Given the description of an element on the screen output the (x, y) to click on. 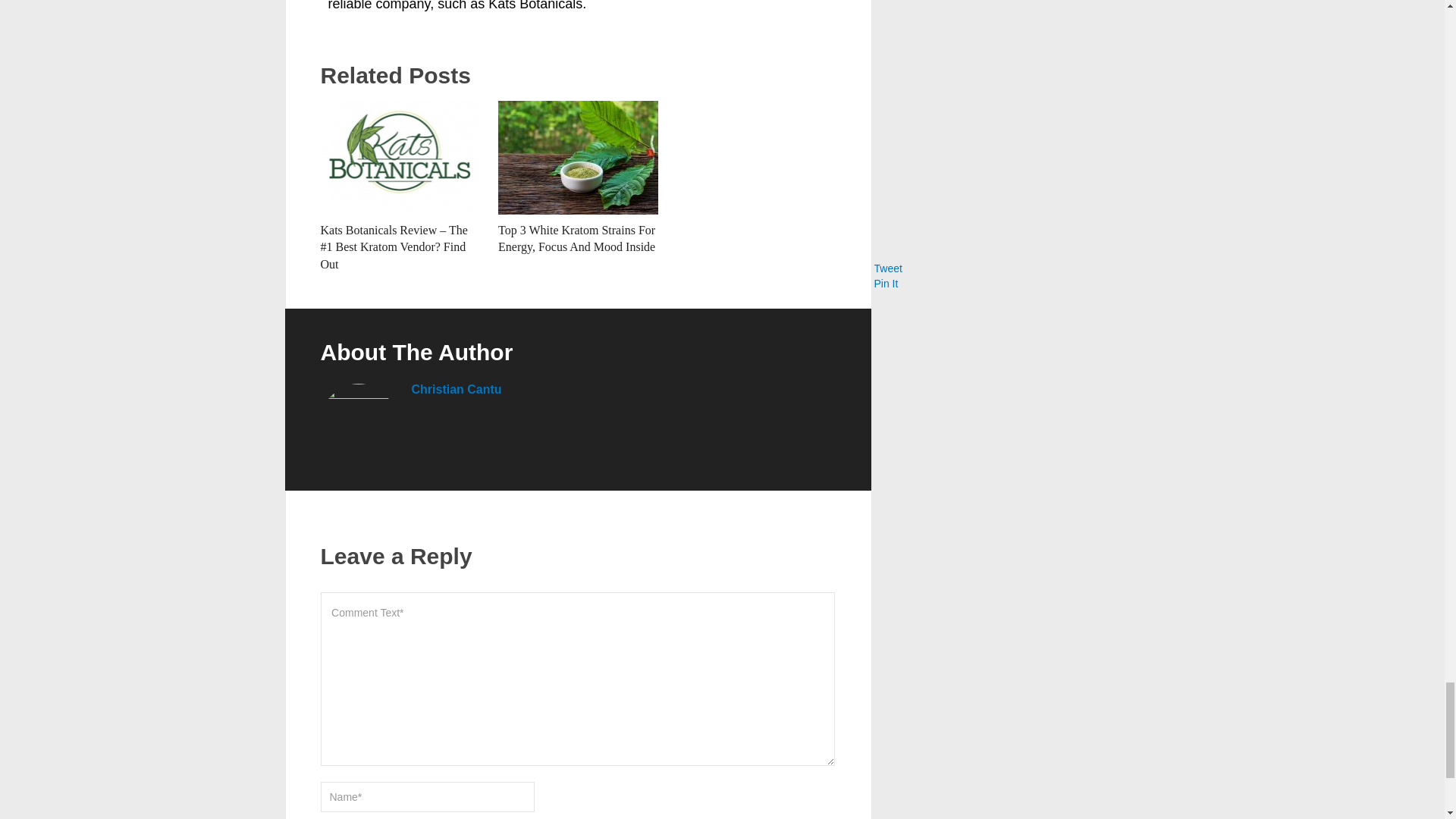
Top 3 White Kratom Strains For Energy, Focus And Mood Inside (576, 238)
Top 3 White Kratom Strains For Energy, Focus And Mood Inside (577, 157)
Top 3 White Kratom Strains For Energy, Focus And Mood Inside (576, 238)
Christian Cantu (455, 389)
